Given the description of an element on the screen output the (x, y) to click on. 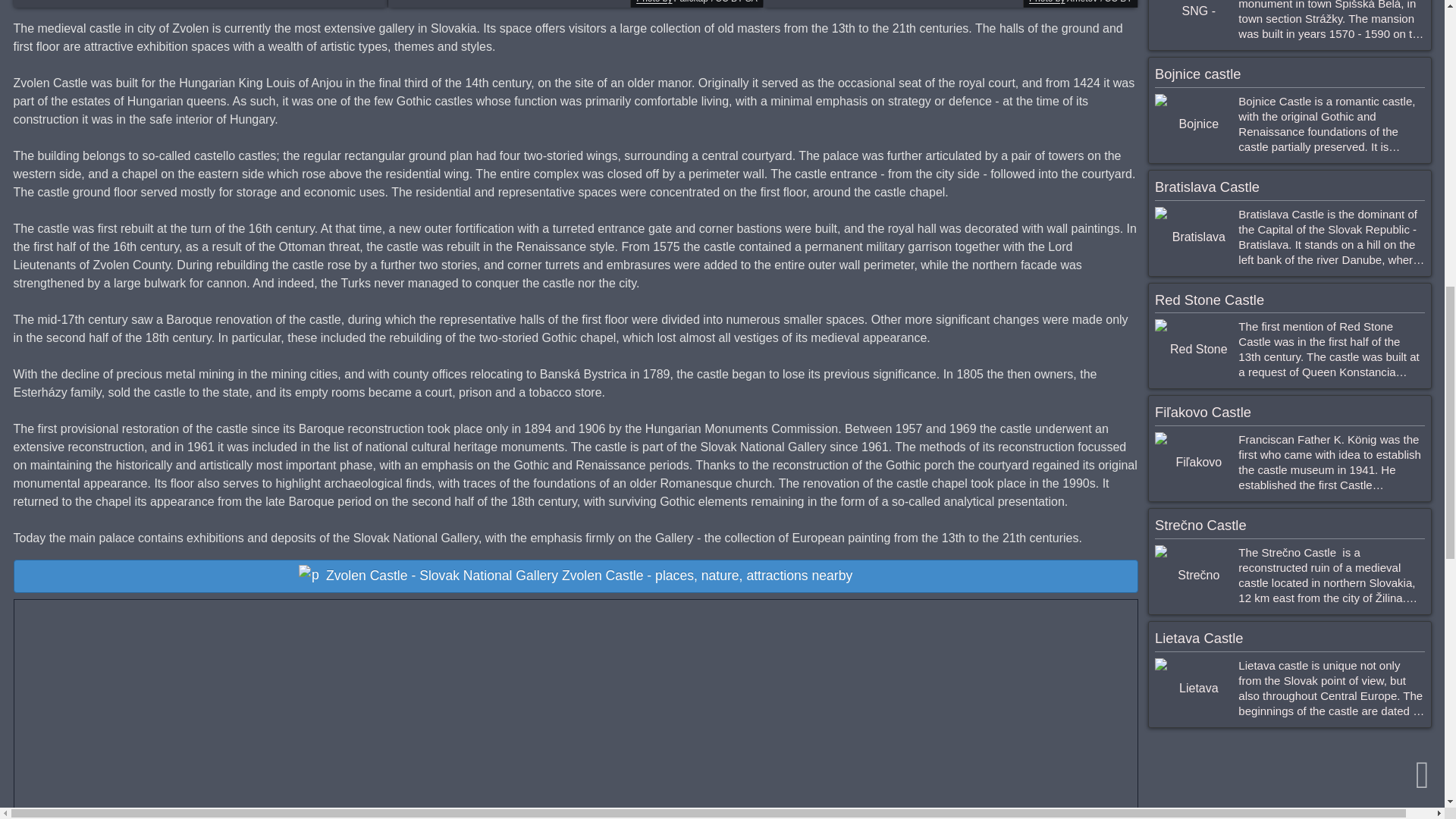
Zvolen Castle (949, 3)
Palickap (690, 2)
Photo by (653, 2)
Photo by (1046, 2)
Zvolen Castle (200, 3)
Xmetov (1081, 2)
Zvolen Castle (574, 3)
